Given the description of an element on the screen output the (x, y) to click on. 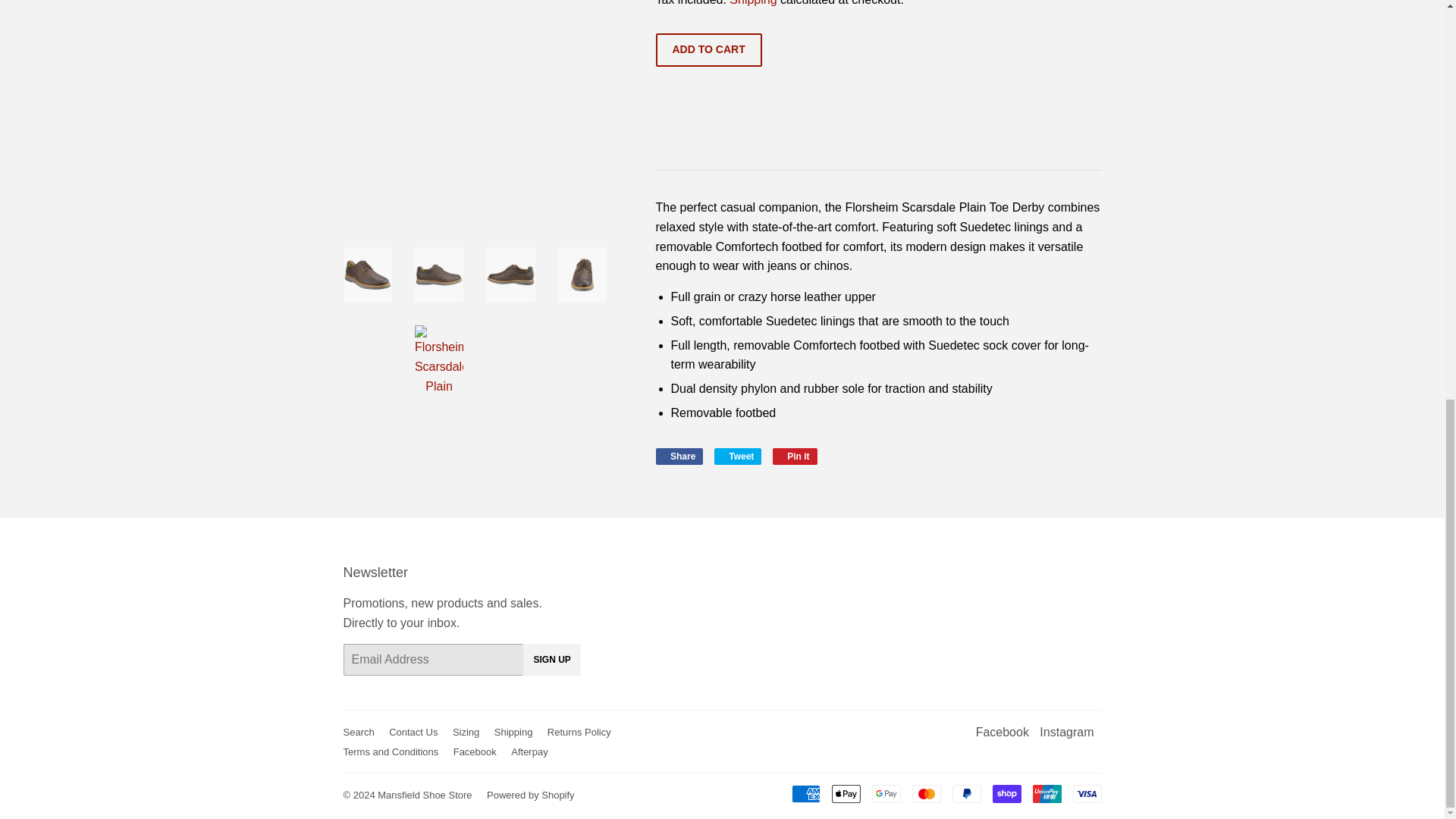
Mansfield Shoe Store on Facebook (1002, 731)
American Express (806, 793)
Visa (1085, 793)
Mansfield Shoe Store on Instagram (679, 456)
Apple Pay (1066, 731)
Union Pay (794, 456)
SIGN UP (845, 793)
Tweet on Twitter (737, 456)
Shop Pay (1046, 793)
Share on Facebook (550, 659)
Pin on Pinterest (737, 456)
Mastercard (1005, 793)
